Given the description of an element on the screen output the (x, y) to click on. 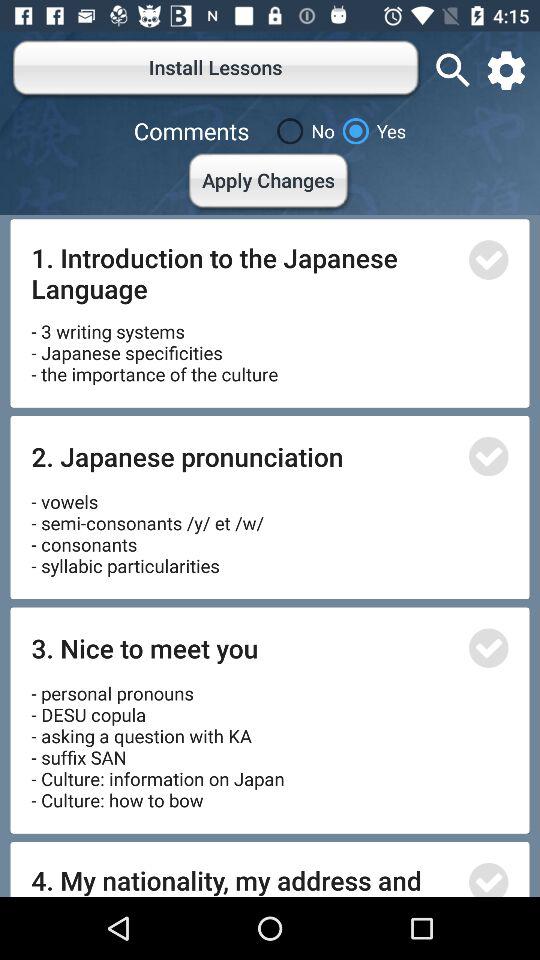
click to install (488, 259)
